Given the description of an element on the screen output the (x, y) to click on. 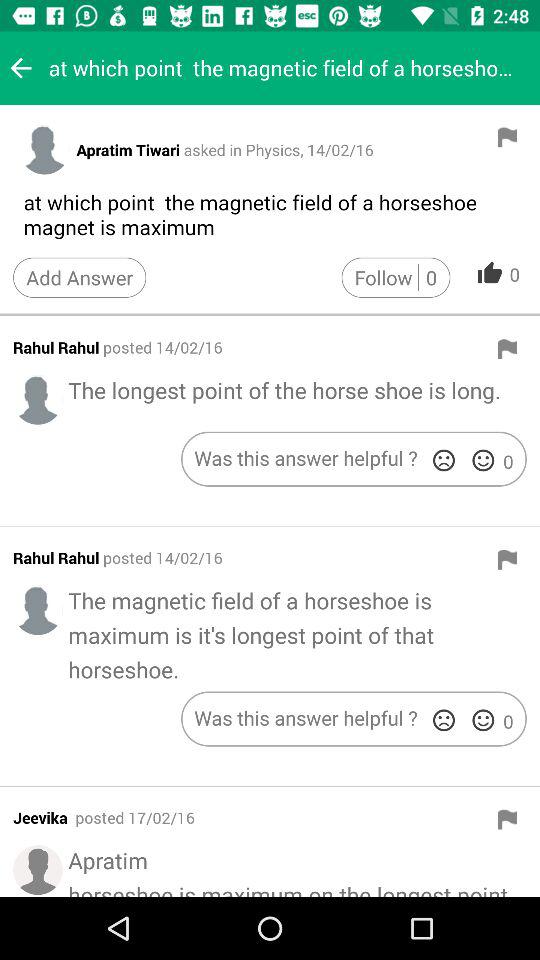
flag comment (507, 349)
